Given the description of an element on the screen output the (x, y) to click on. 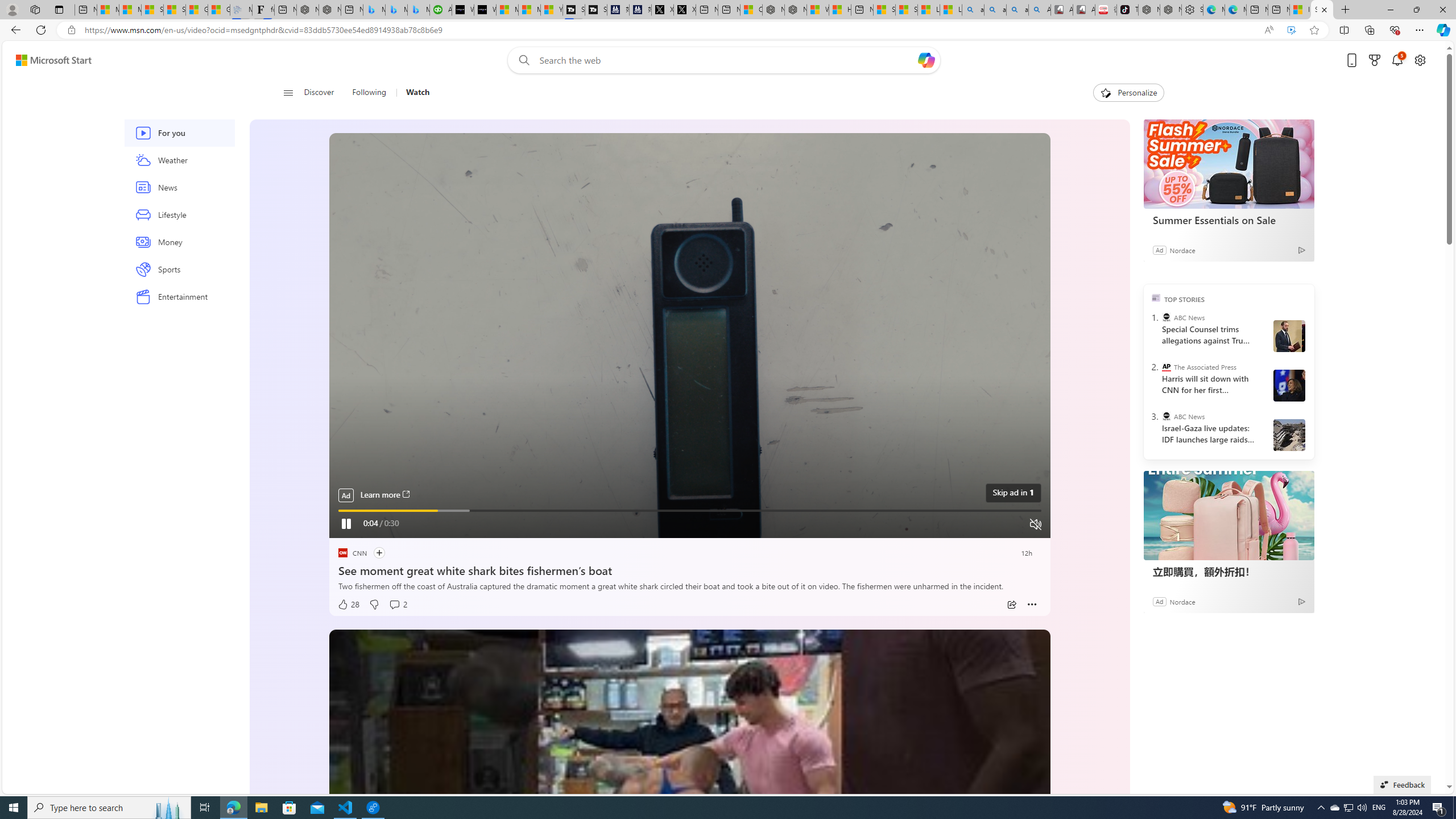
Web search (520, 60)
Share (1010, 604)
Skip to footer (46, 59)
TikTok (1127, 9)
